Given the description of an element on the screen output the (x, y) to click on. 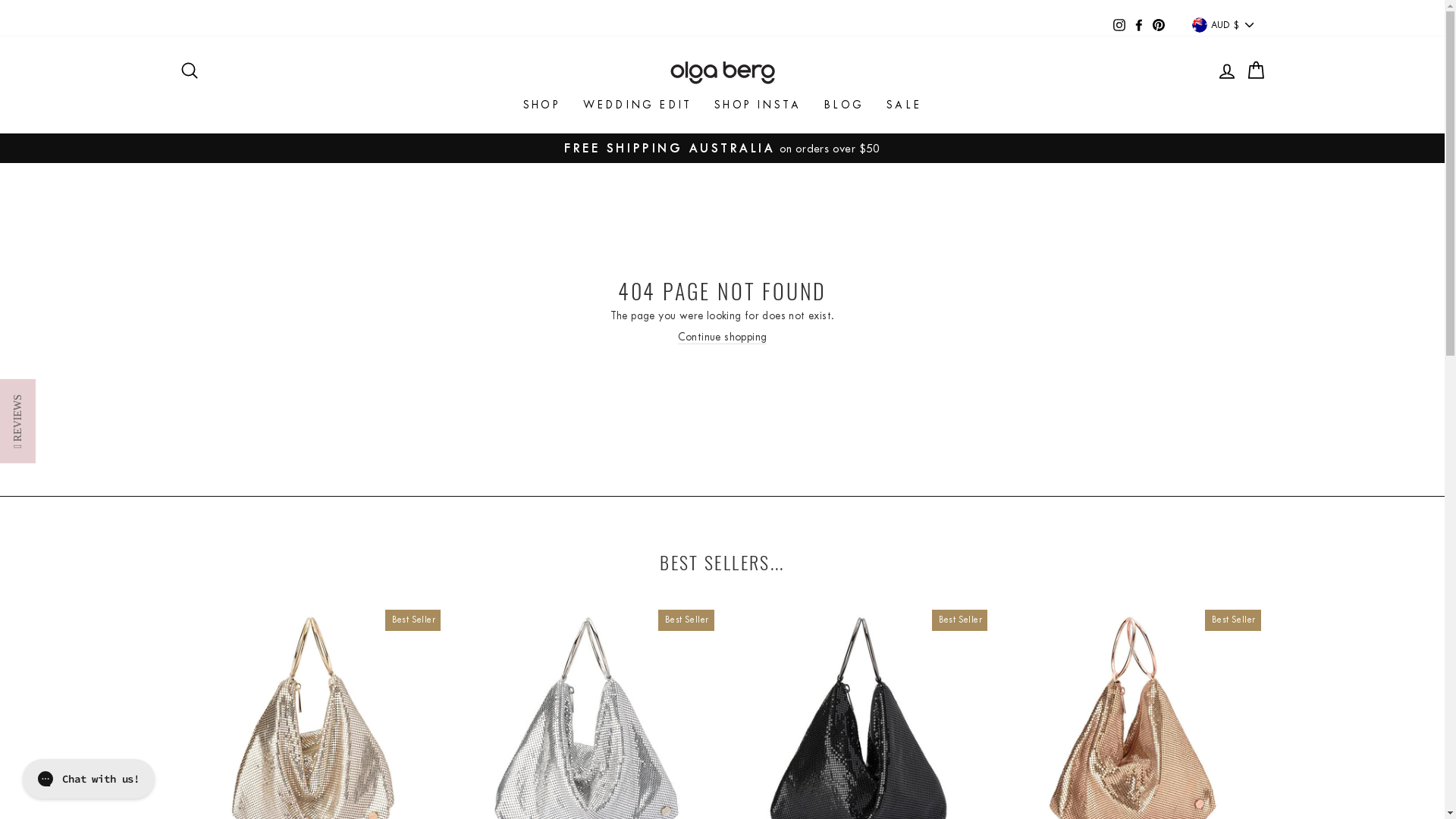
LOG IN Element type: text (1225, 71)
SHOP INSTA Element type: text (757, 105)
HASSLE-FREE30-day returns Element type: text (722, 148)
Facebook Element type: text (1138, 24)
BLOG Element type: text (843, 105)
Instagram Element type: text (1119, 24)
AUD $ Element type: text (1222, 24)
SHOP Element type: text (541, 105)
SALE Element type: text (903, 105)
Gorgias live chat messenger Element type: hover (88, 778)
Skip to content Element type: text (3, 0)
CART Element type: text (1254, 71)
Continue shopping Element type: text (722, 337)
Pinterest Element type: text (1158, 24)
WEDDING EDIT Element type: text (636, 105)
SEARCH Element type: text (188, 71)
